Given the description of an element on the screen output the (x, y) to click on. 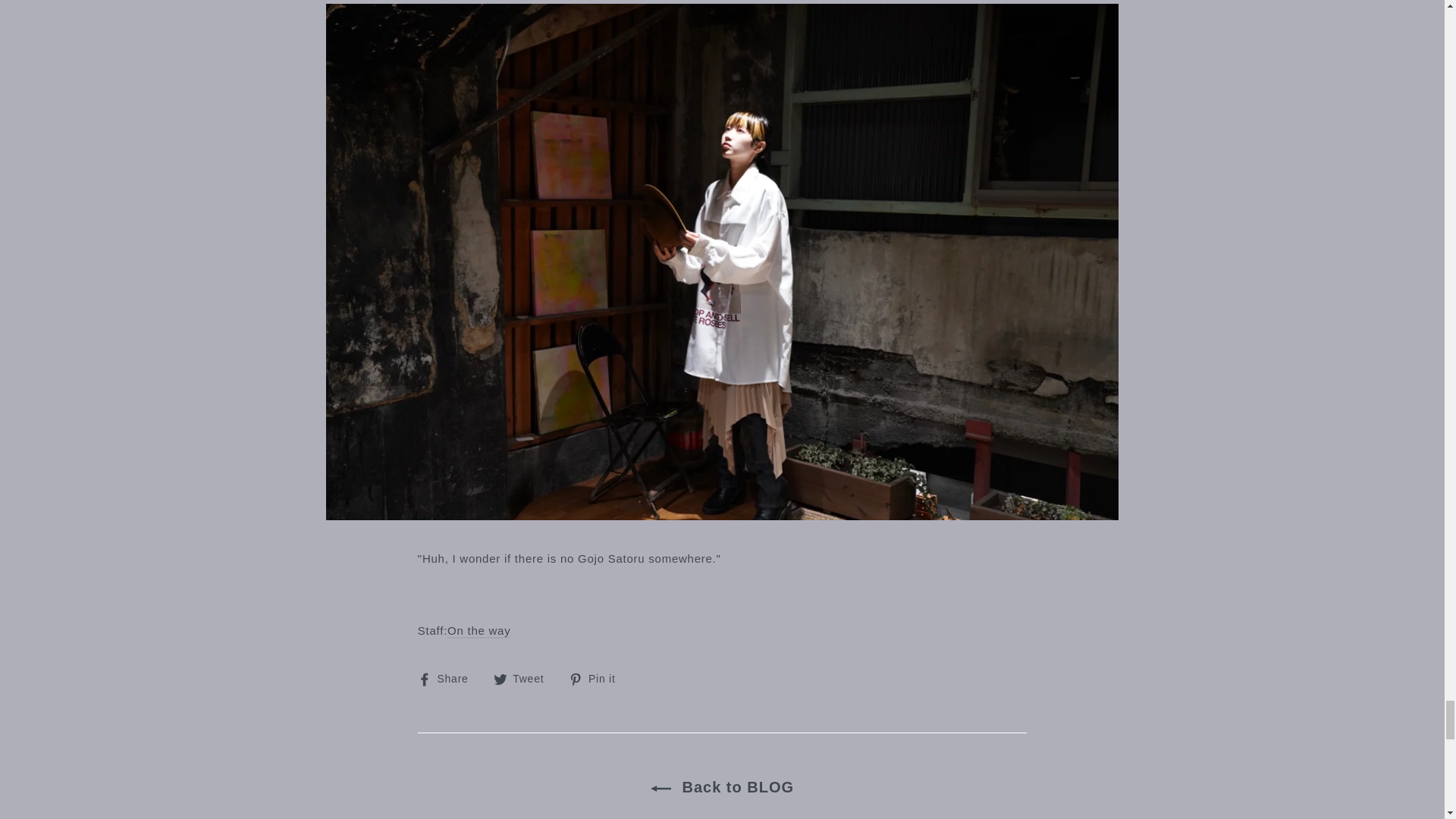
Share on Facebook (448, 678)
Pin on Pinterest (597, 678)
Lae Instagram (478, 631)
Tweet on Twitter (524, 678)
